Given the description of an element on the screen output the (x, y) to click on. 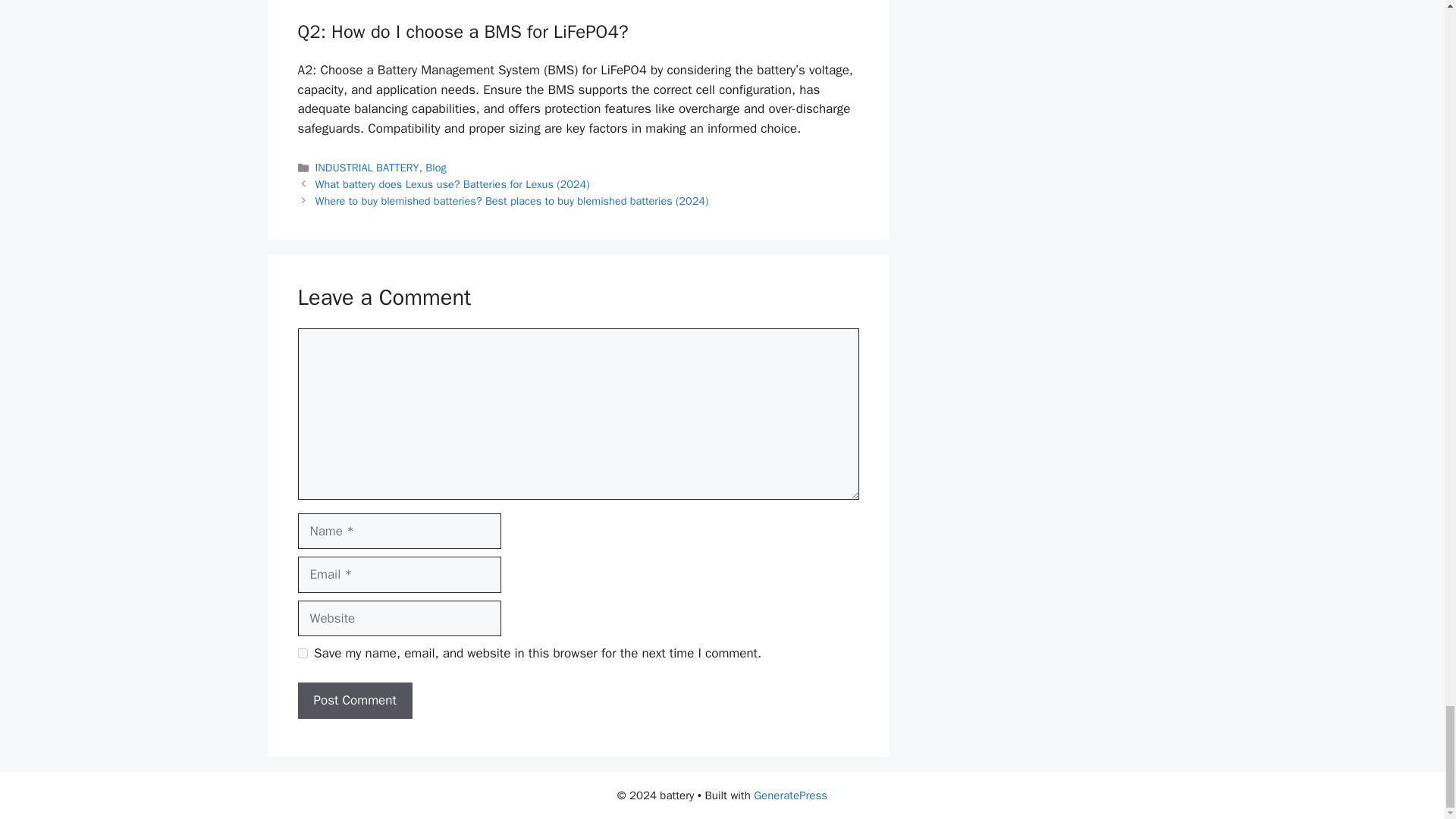
GeneratePress (790, 795)
Post Comment (354, 700)
INDUSTRIAL BATTERY (367, 167)
yes (302, 653)
Post Comment (354, 700)
Blog (435, 167)
